Given the description of an element on the screen output the (x, y) to click on. 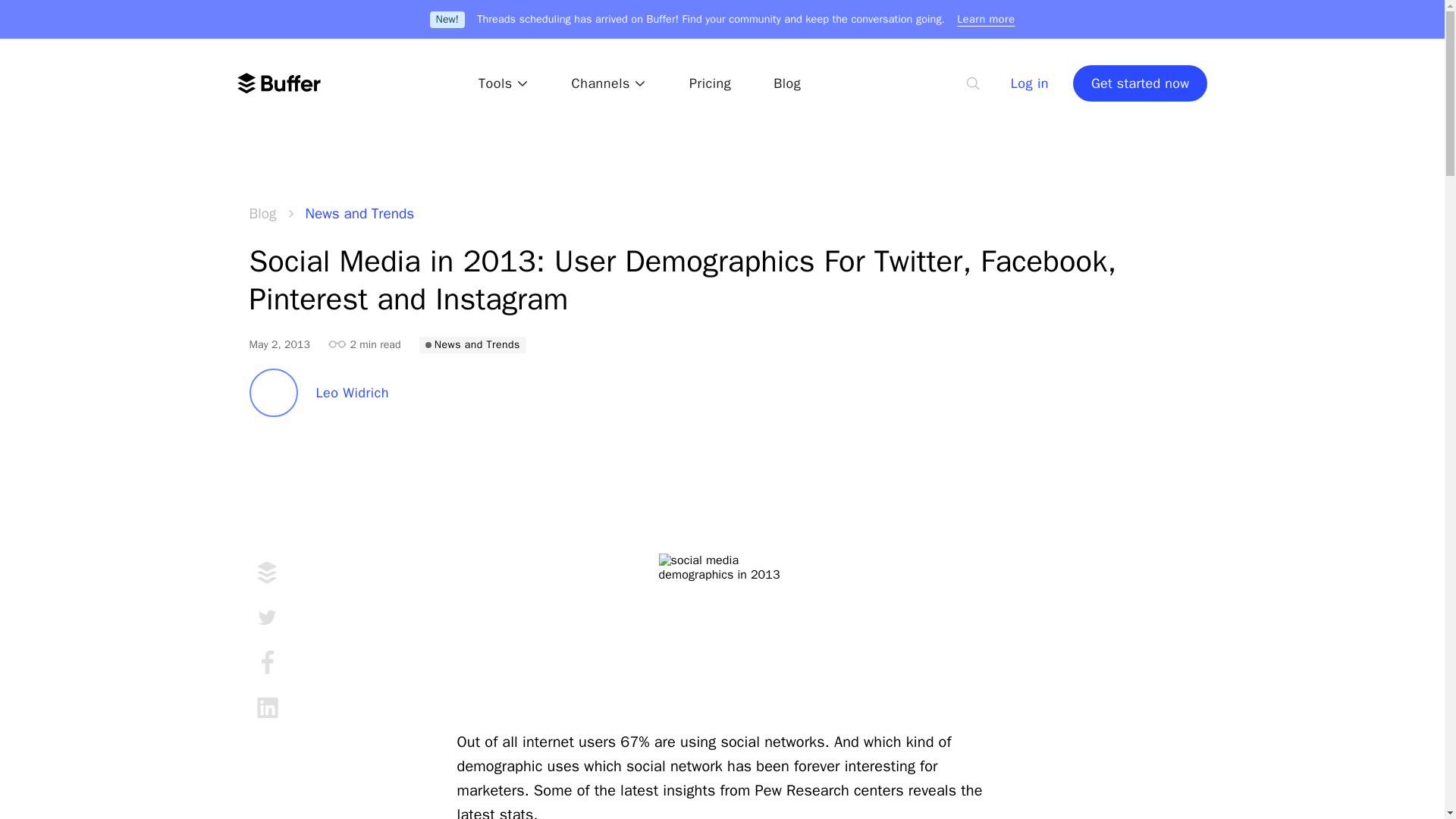
Learn more (985, 19)
Tools (504, 83)
Log in (1029, 83)
Channels (609, 83)
Pricing (709, 83)
Blog (786, 83)
Search for blog articles (973, 83)
Get started now (1140, 83)
